Given the description of an element on the screen output the (x, y) to click on. 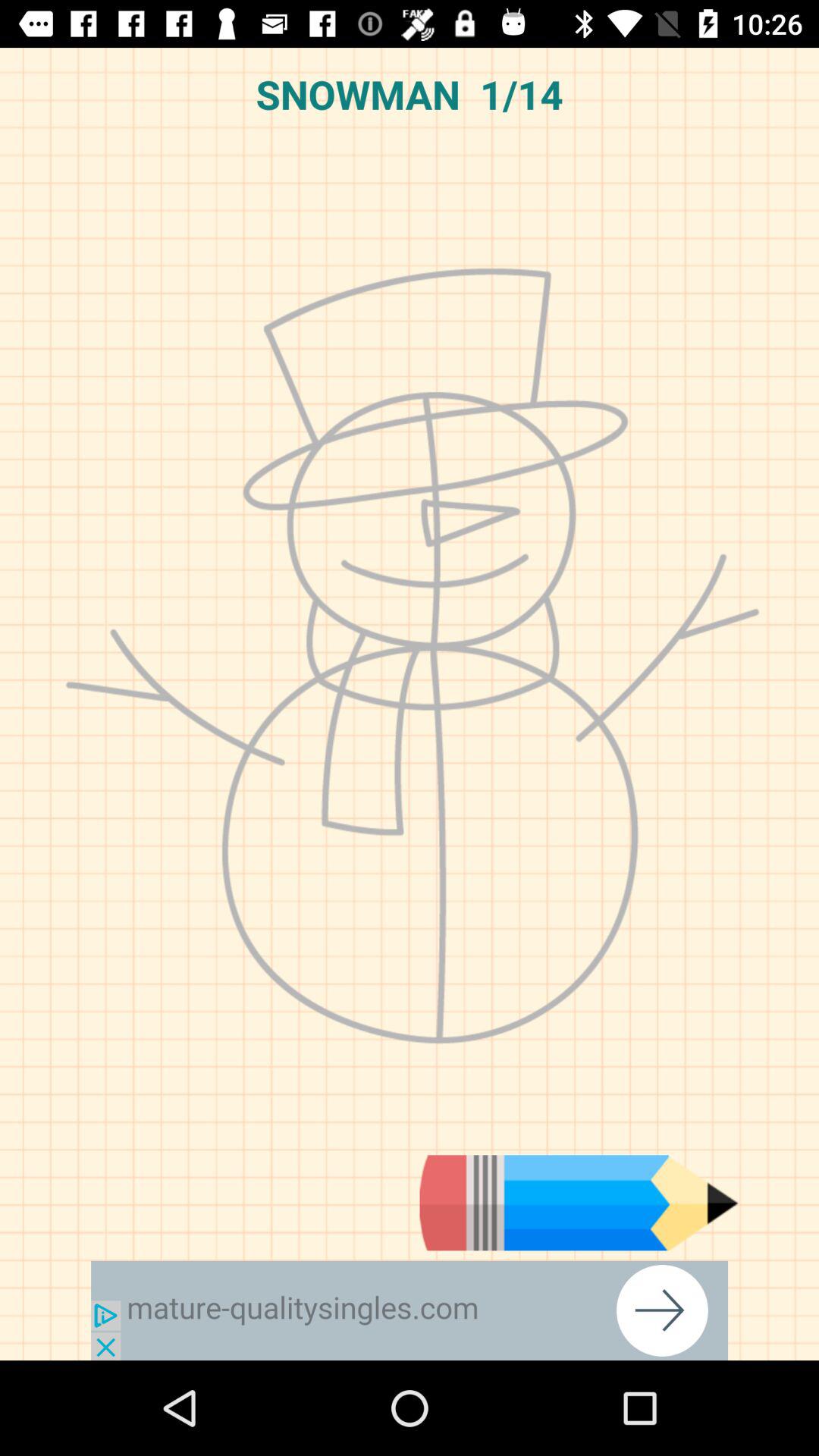
draw with the pencil (578, 1202)
